Given the description of an element on the screen output the (x, y) to click on. 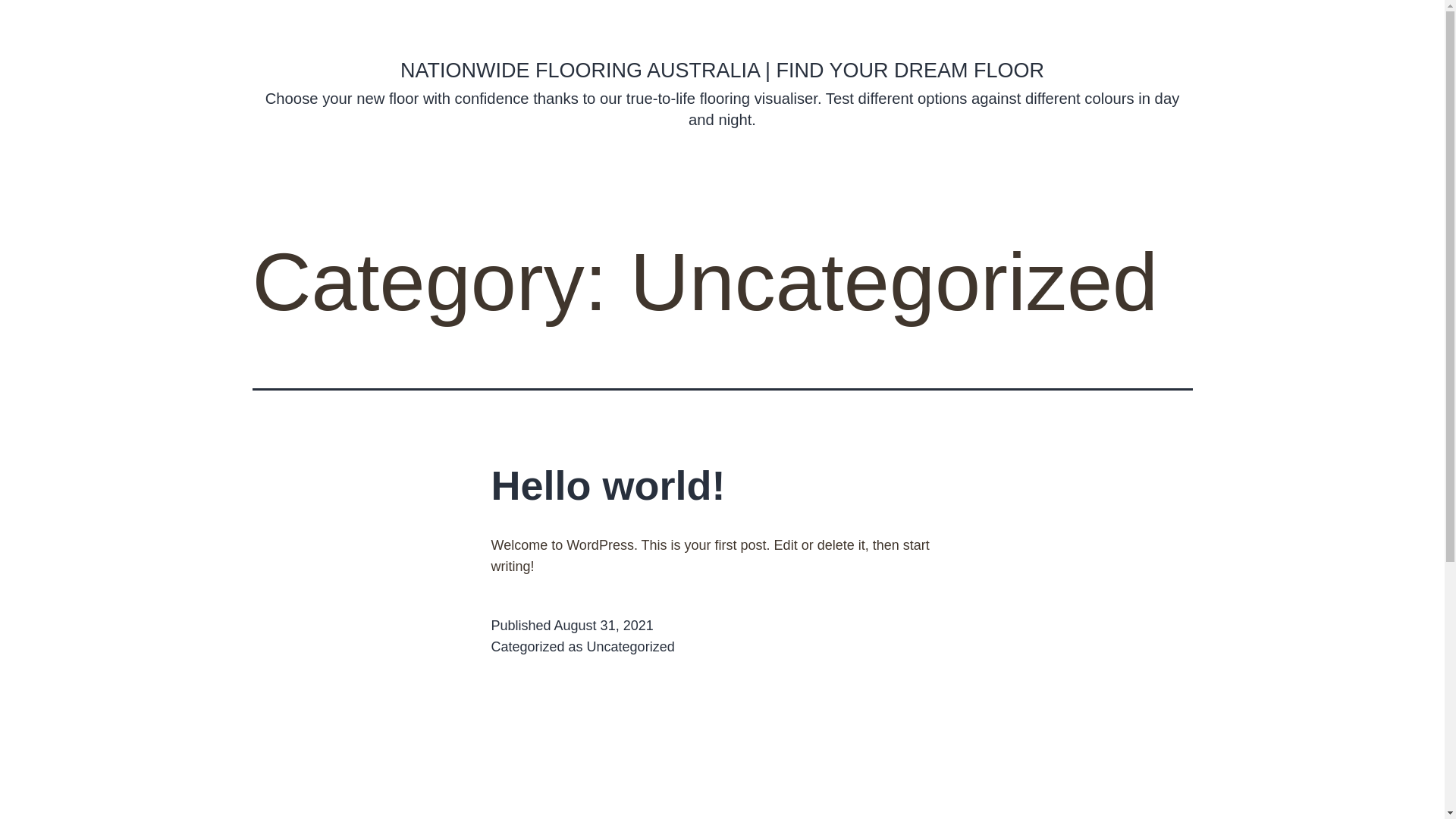
NATIONWIDE FLOORING AUSTRALIA | FIND YOUR DREAM FLOOR Element type: text (722, 70)
Uncategorized Element type: text (630, 646)
Hello world! Element type: text (608, 485)
